Given the description of an element on the screen output the (x, y) to click on. 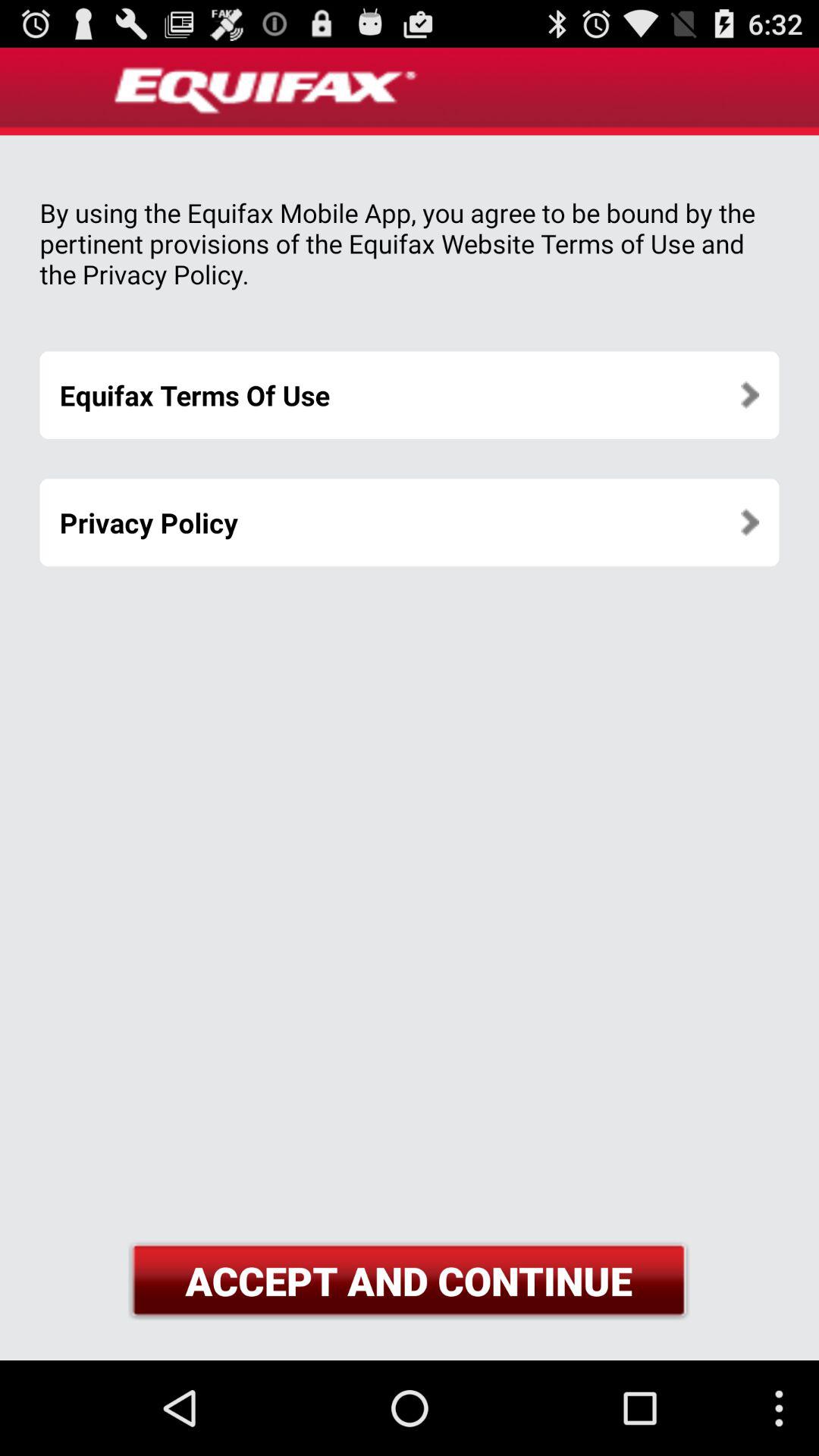
select icon below the privacy policy icon (408, 1280)
